Given the description of an element on the screen output the (x, y) to click on. 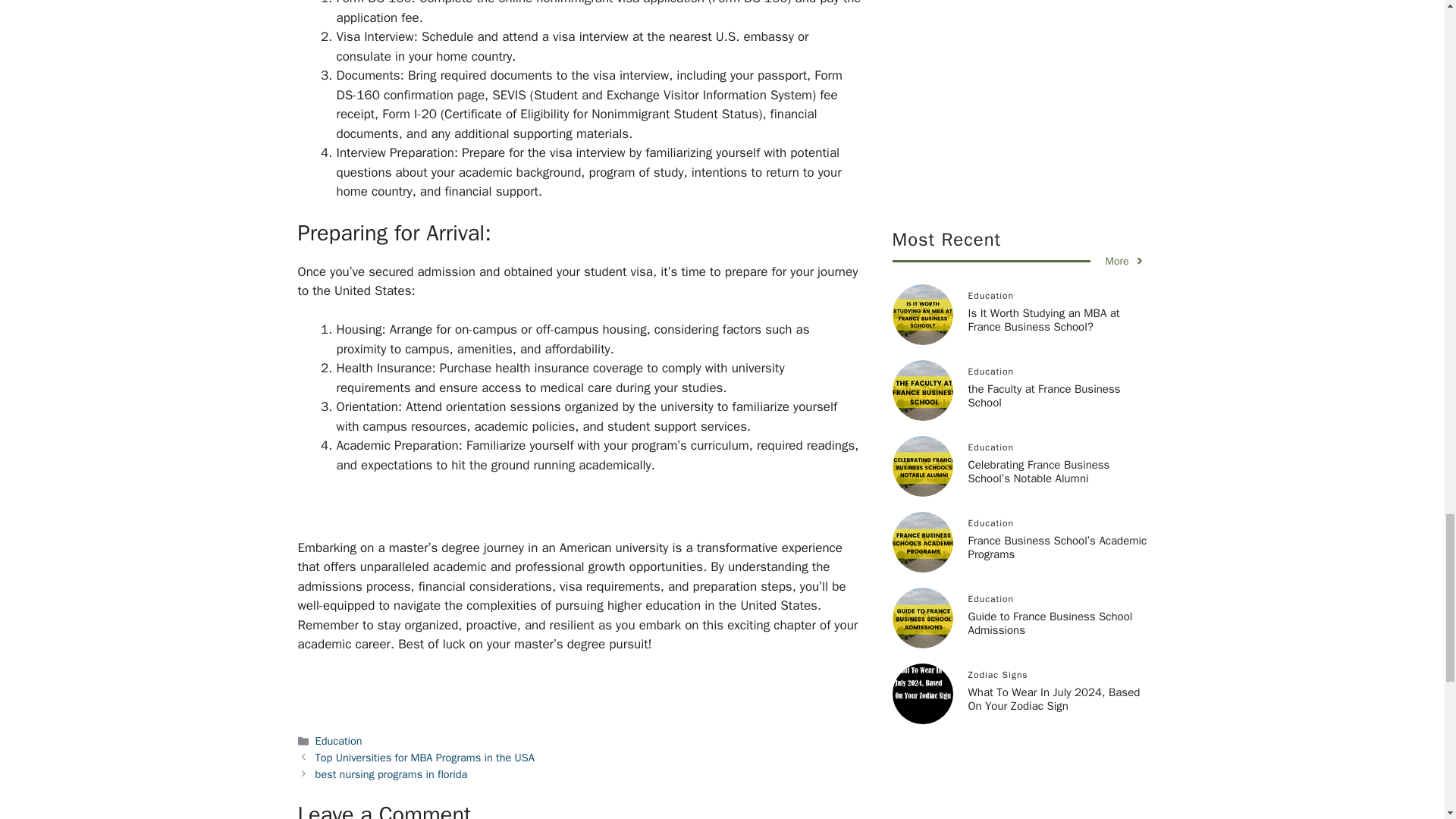
best nursing programs in florida (391, 774)
Top Universities for MBA Programs in the USA (424, 757)
Education (338, 740)
